Given the description of an element on the screen output the (x, y) to click on. 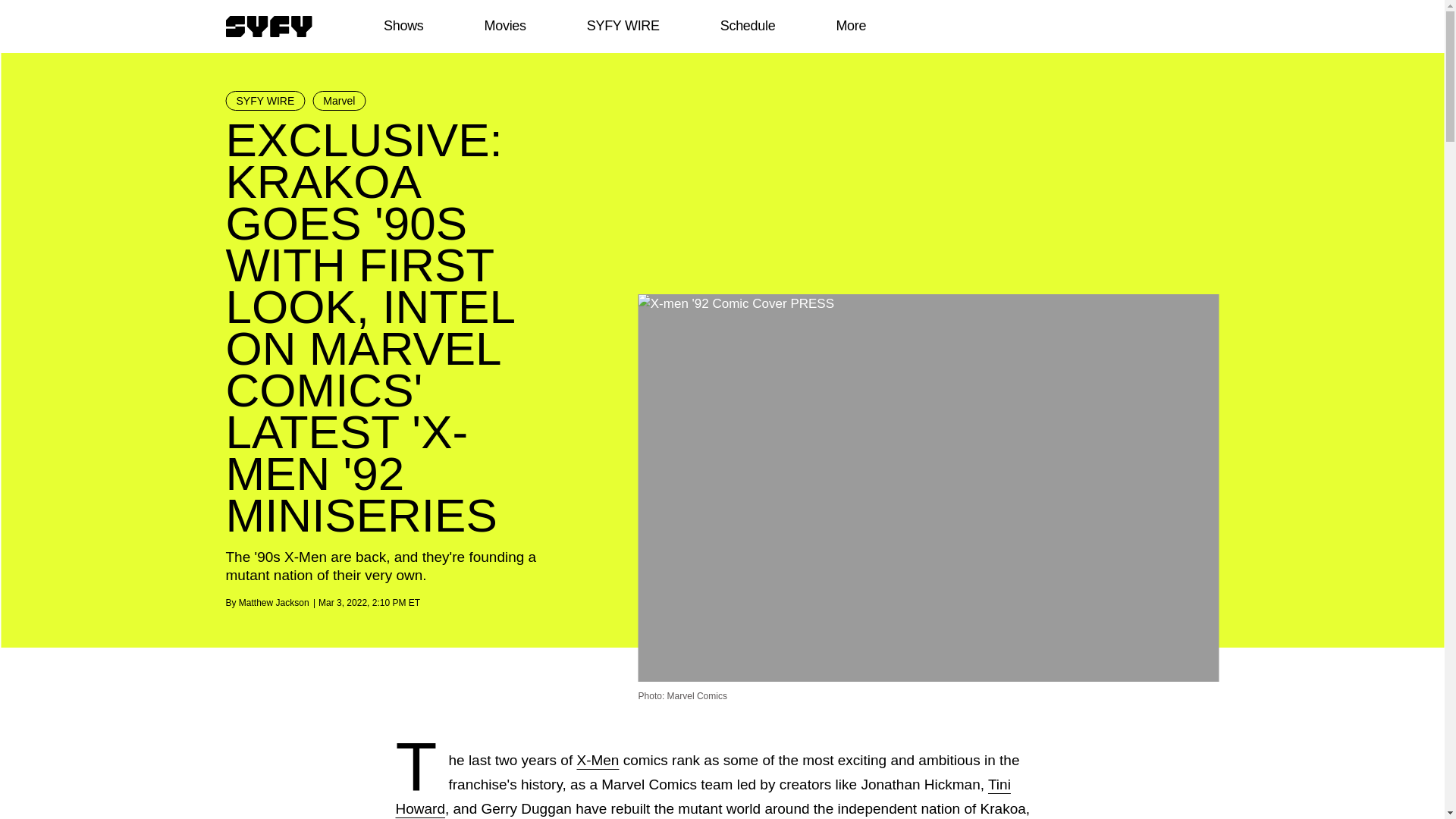
X-Men (597, 760)
Schedule (746, 26)
Marvel (339, 100)
Matthew Jackson (273, 602)
Shows (403, 26)
More (850, 26)
Movies (504, 26)
Tini Howard (703, 796)
SYFY WIRE (622, 26)
